Given the description of an element on the screen output the (x, y) to click on. 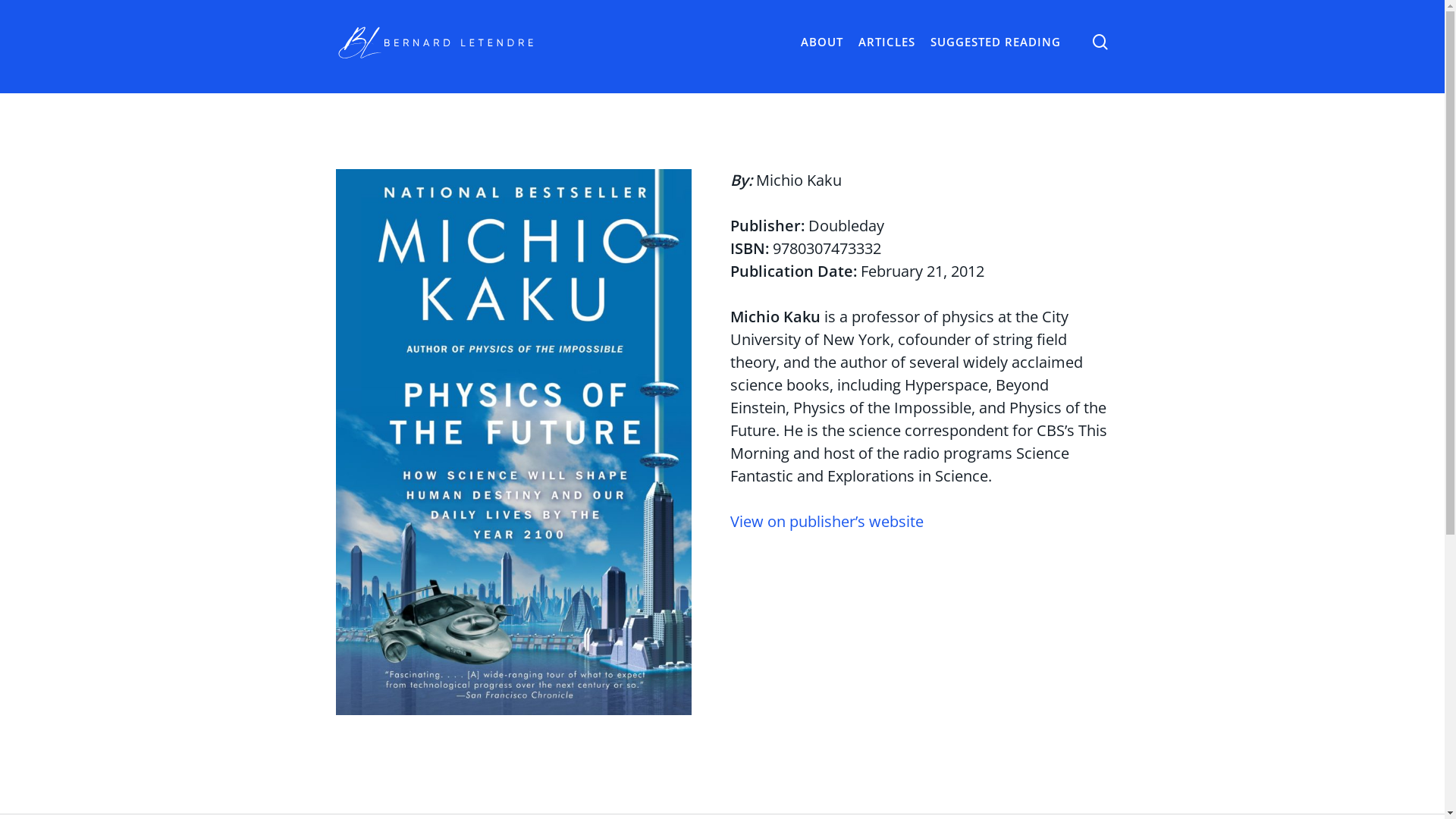
ABOUT Element type: text (821, 41)
SUGGESTED READING Element type: text (994, 41)
search Element type: text (1099, 41)
ARTICLES Element type: text (886, 41)
